Given the description of an element on the screen output the (x, y) to click on. 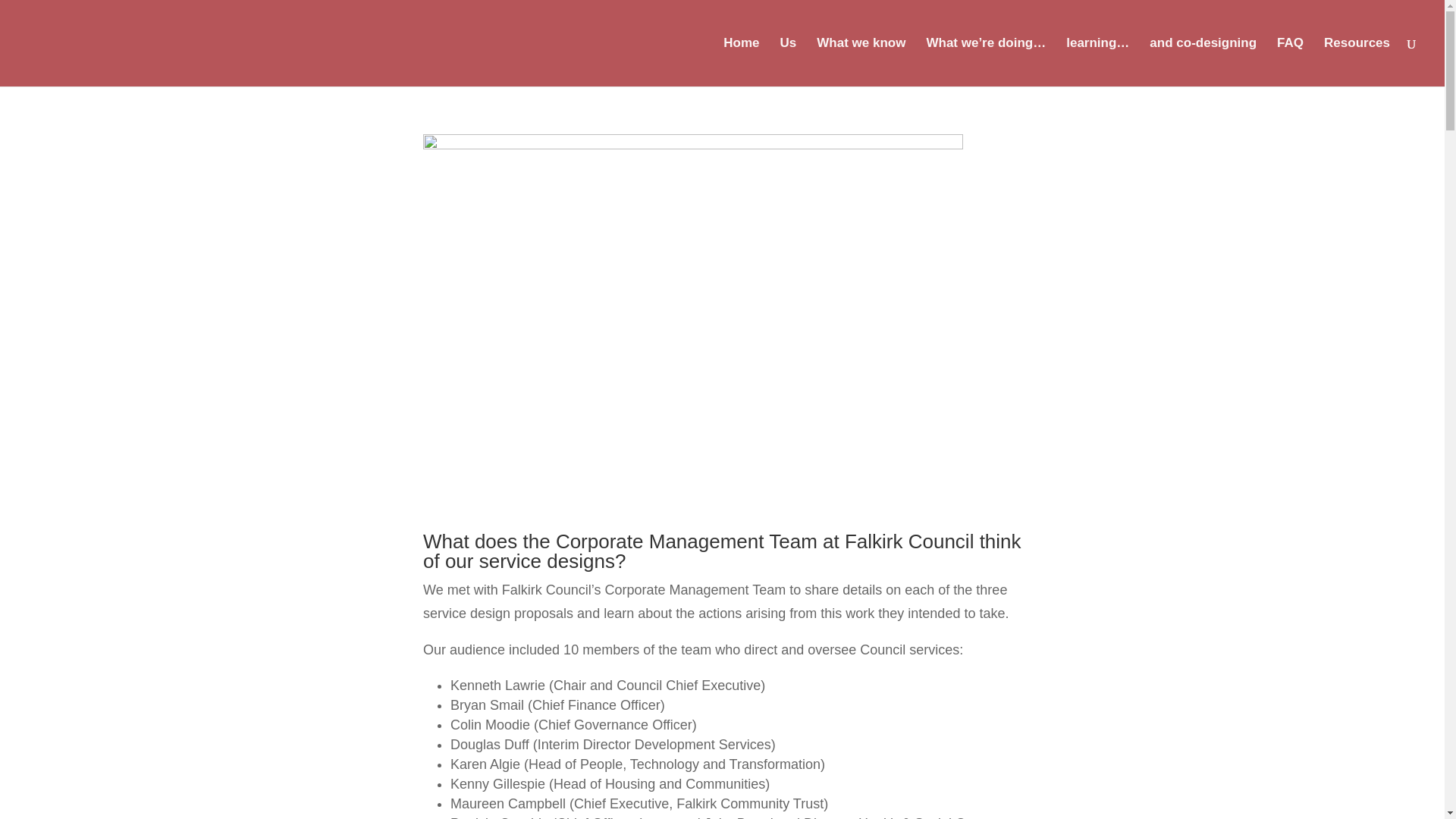
FAQ (1289, 61)
and co-designing (1203, 61)
Home (740, 61)
Us (788, 61)
What we know (860, 61)
Resources (1356, 61)
